Given the description of an element on the screen output the (x, y) to click on. 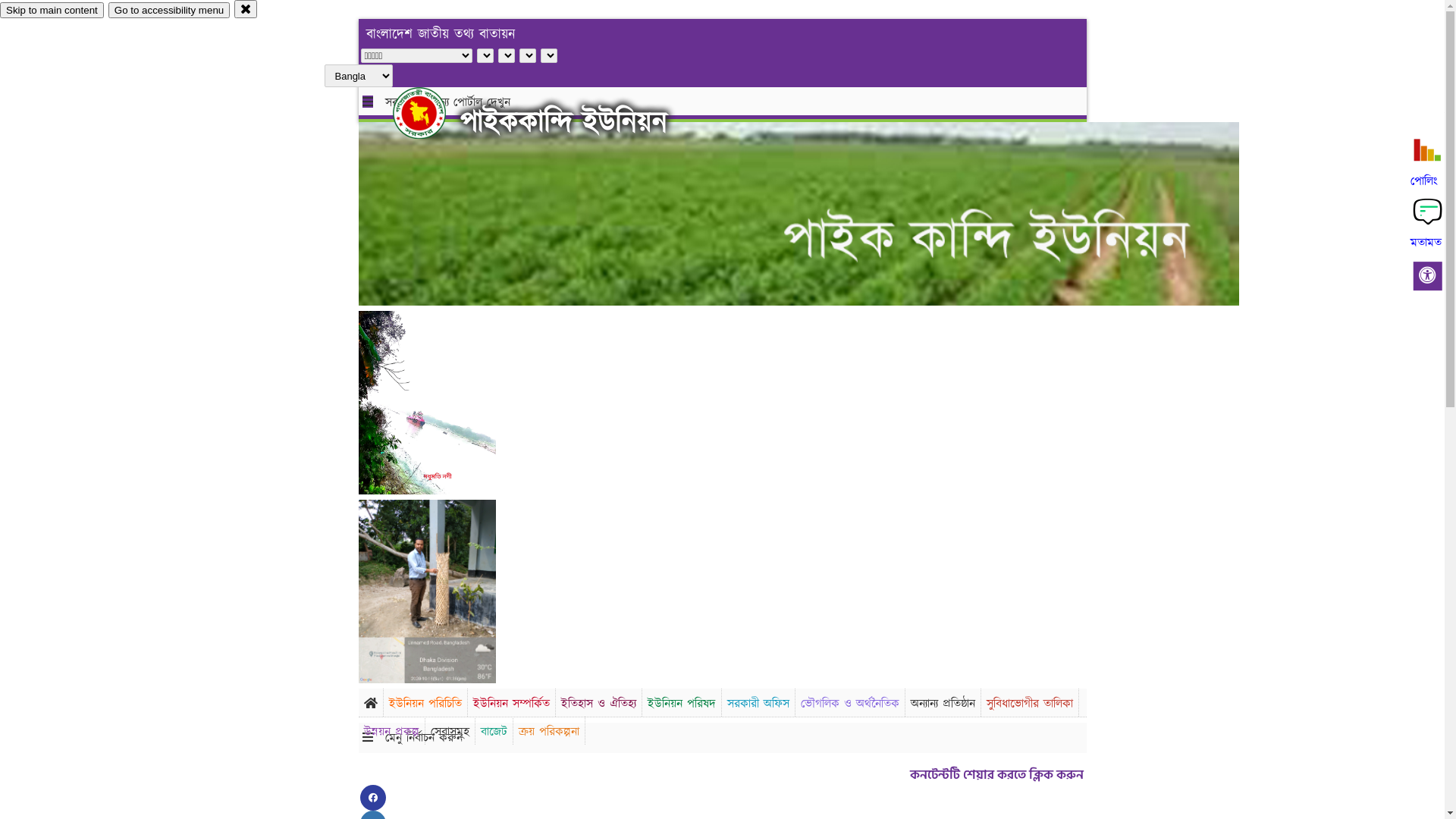

                
             Element type: hover (431, 112)
close Element type: hover (245, 9)
Skip to main content Element type: text (51, 10)
Go to accessibility menu Element type: text (168, 10)
